Given the description of an element on the screen output the (x, y) to click on. 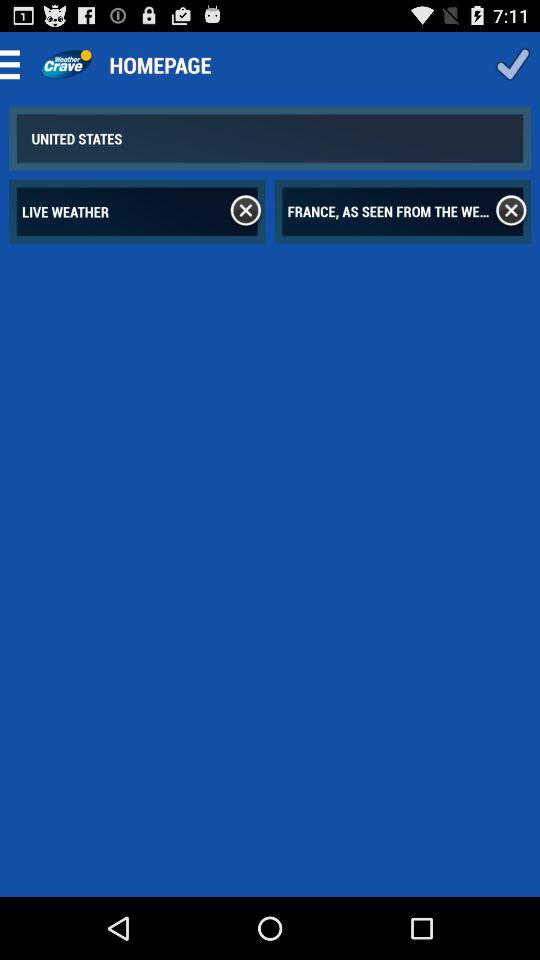
enter button (512, 64)
